Given the description of an element on the screen output the (x, y) to click on. 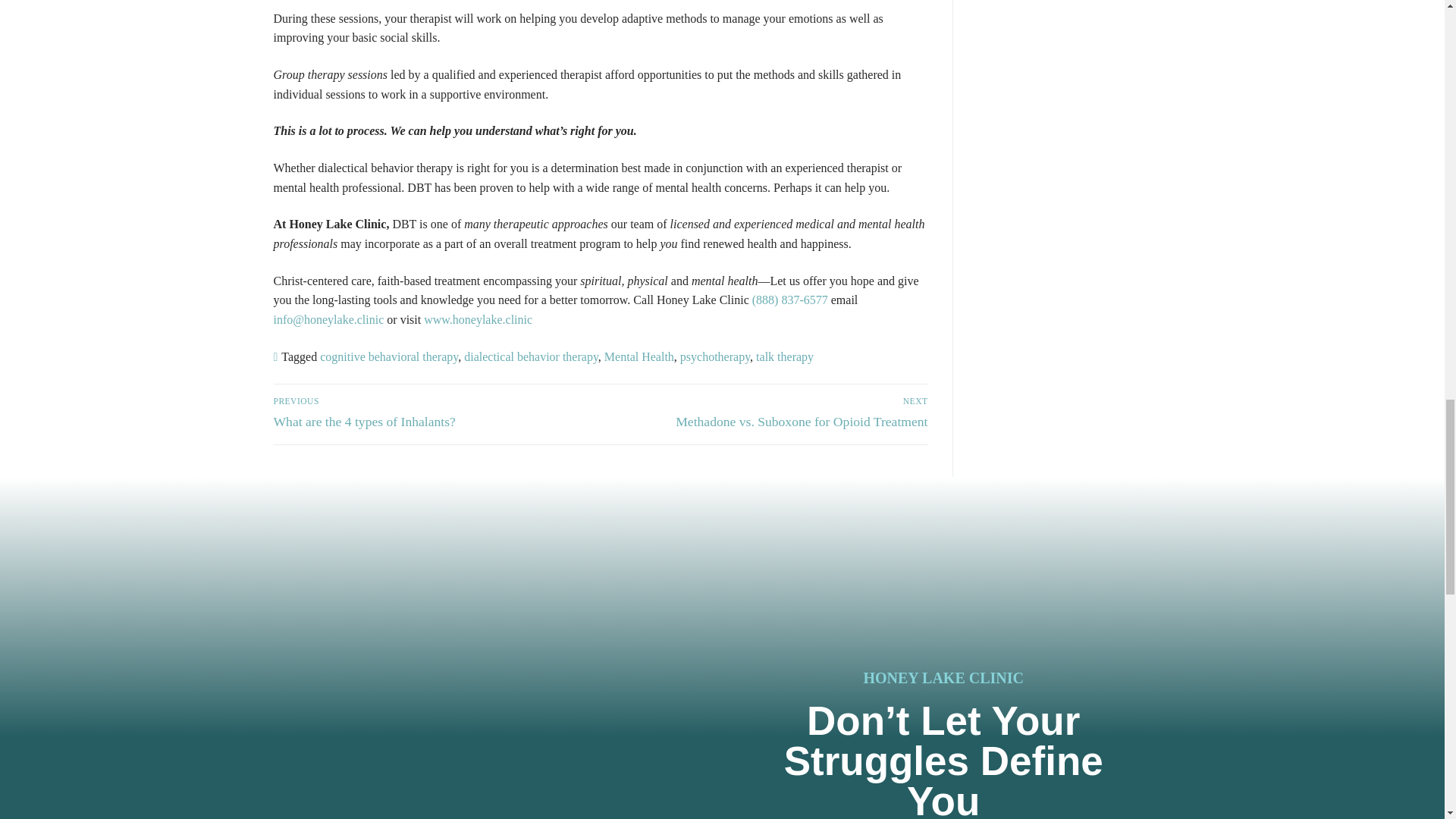
Siggle (943, 646)
